Given the description of an element on the screen output the (x, y) to click on. 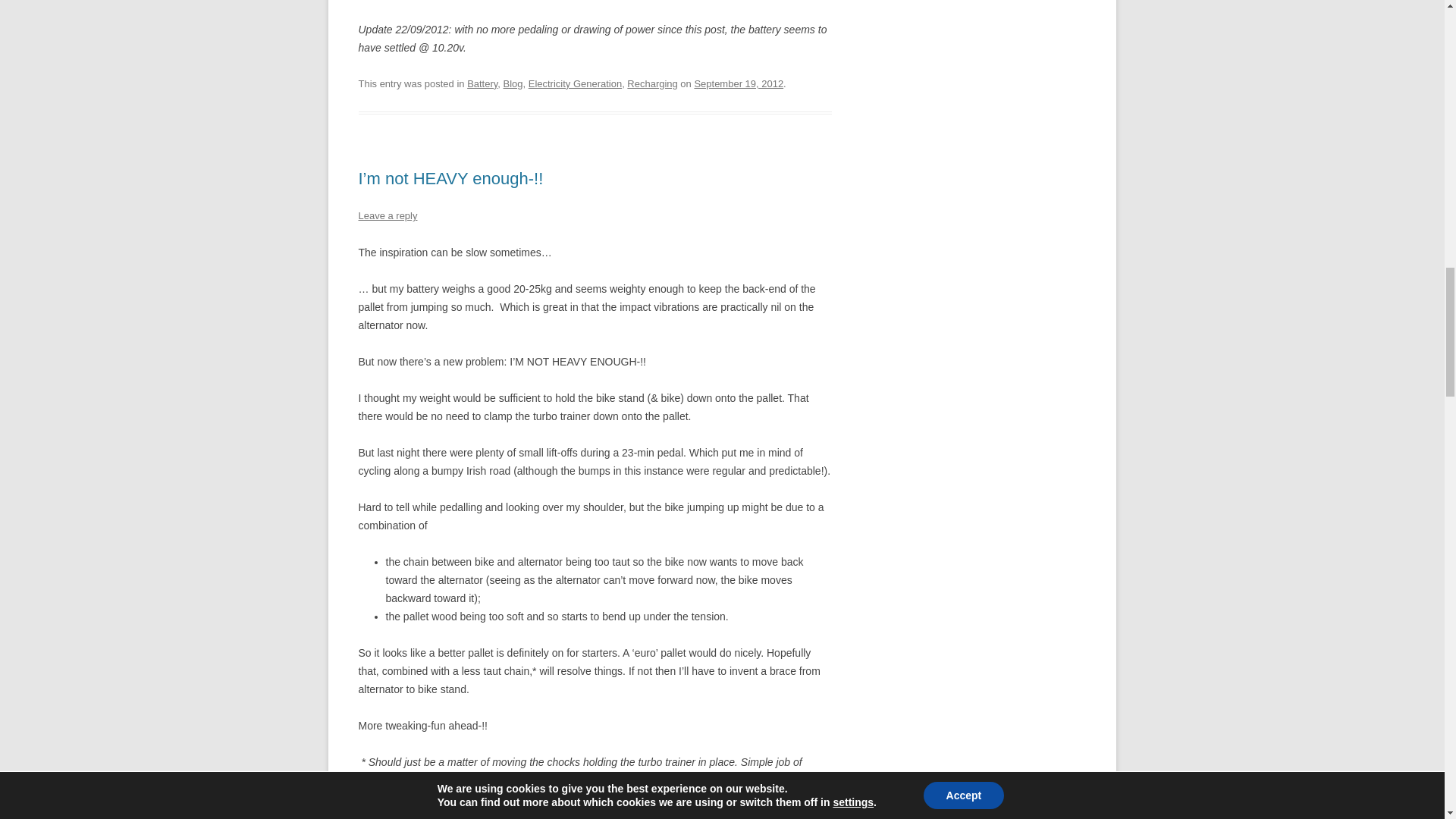
Bike Stand (527, 814)
Chain (593, 814)
Blog (512, 83)
3:29 pm (702, 814)
Battery (482, 814)
Electricity Generation (574, 83)
8:20 pm (738, 83)
Blog (566, 814)
Battery (482, 83)
Recharging (652, 83)
